Given the description of an element on the screen output the (x, y) to click on. 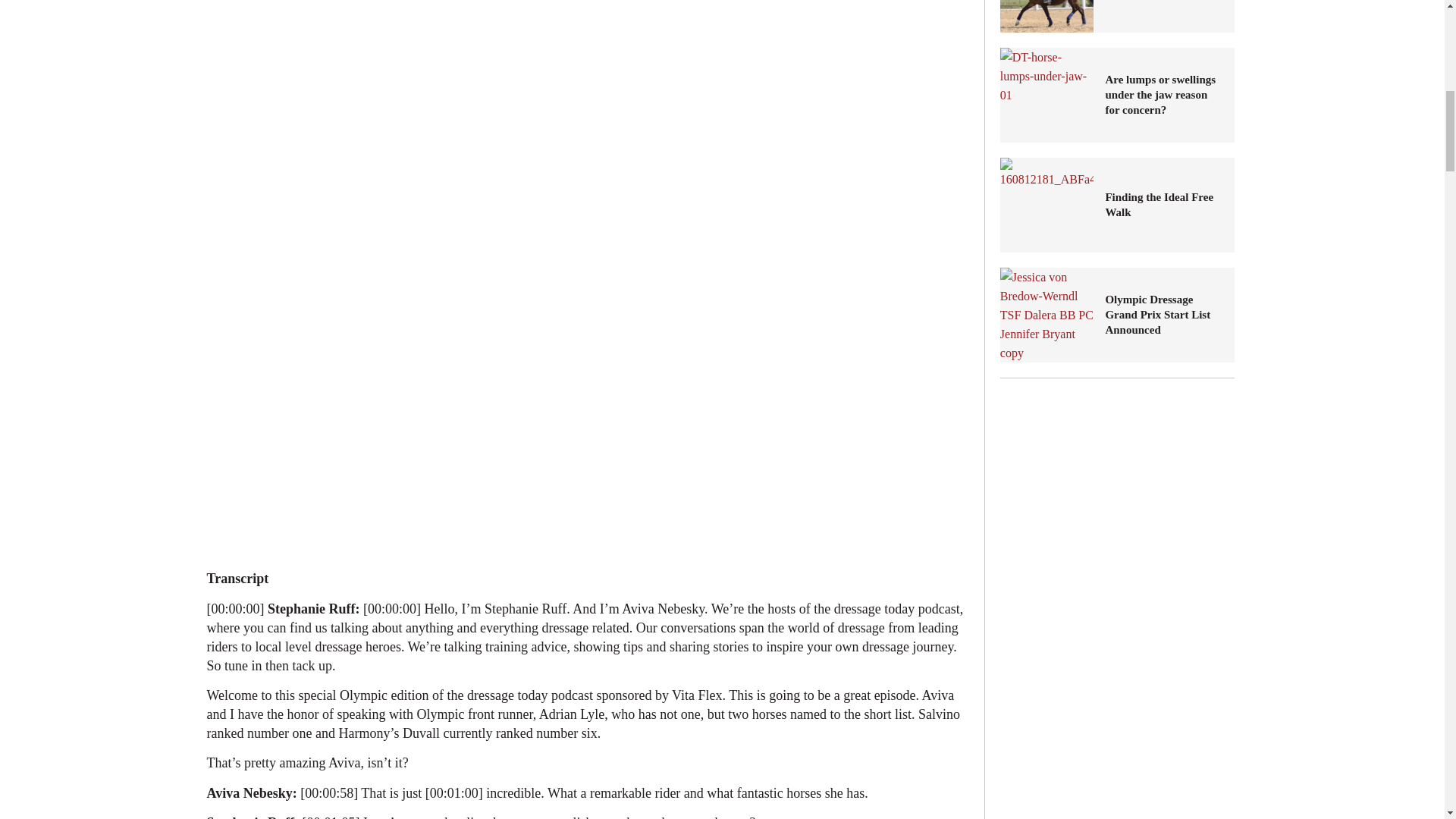
Finding the Ideal Free Walk (1047, 205)
Are lumps or swellings under the jaw reason for concern? (1047, 94)
Techniques to Improve Contact (1047, 16)
Are lumps or swellings under the jaw reason for concern? (1164, 94)
